Given the description of an element on the screen output the (x, y) to click on. 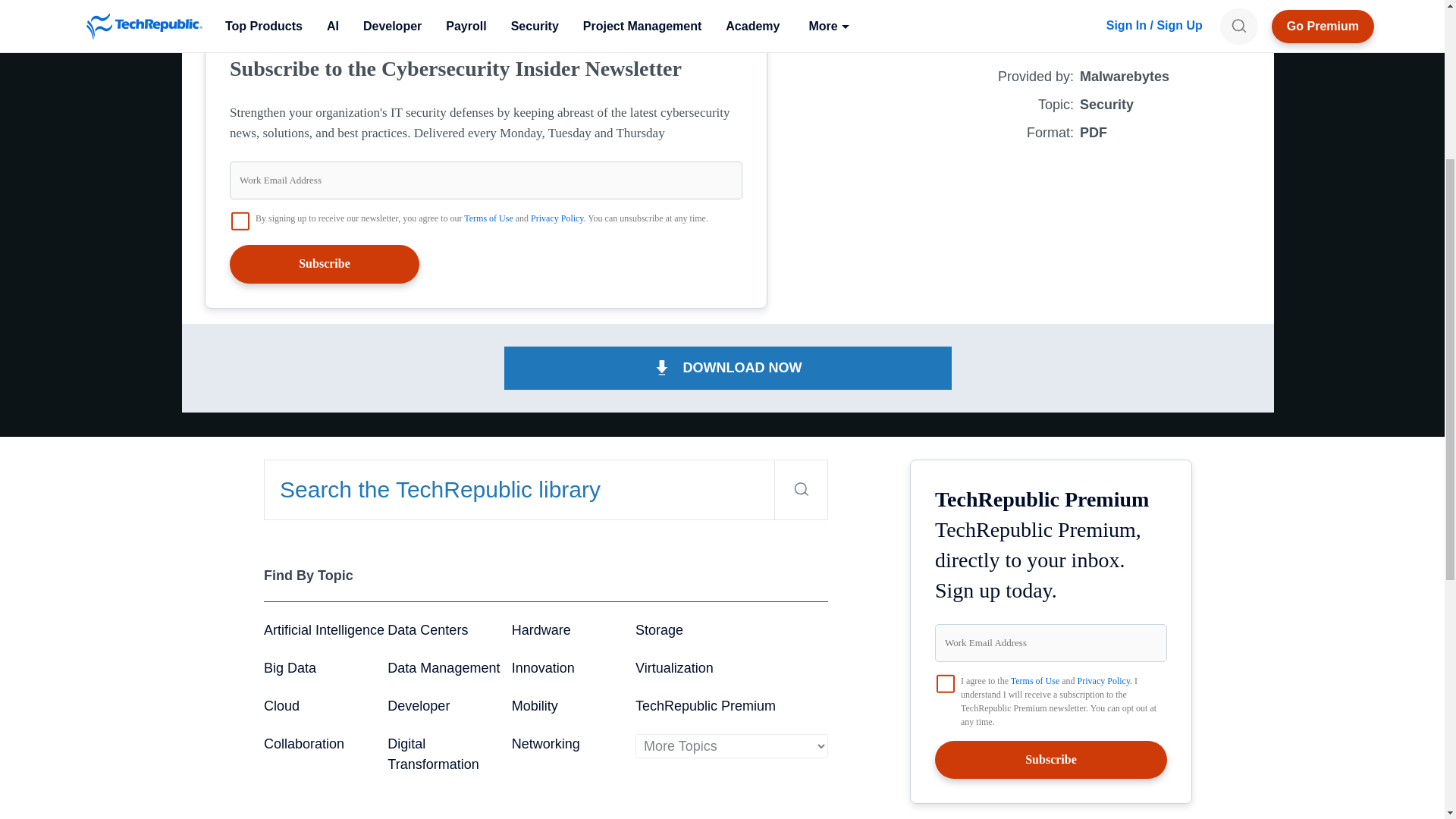
on (945, 683)
Artificial Intelligence (323, 630)
DOWNLOAD NOW (727, 367)
on (239, 221)
Privacy Policy (557, 217)
Terms of Use (488, 217)
Subscribe (324, 263)
